Given the description of an element on the screen output the (x, y) to click on. 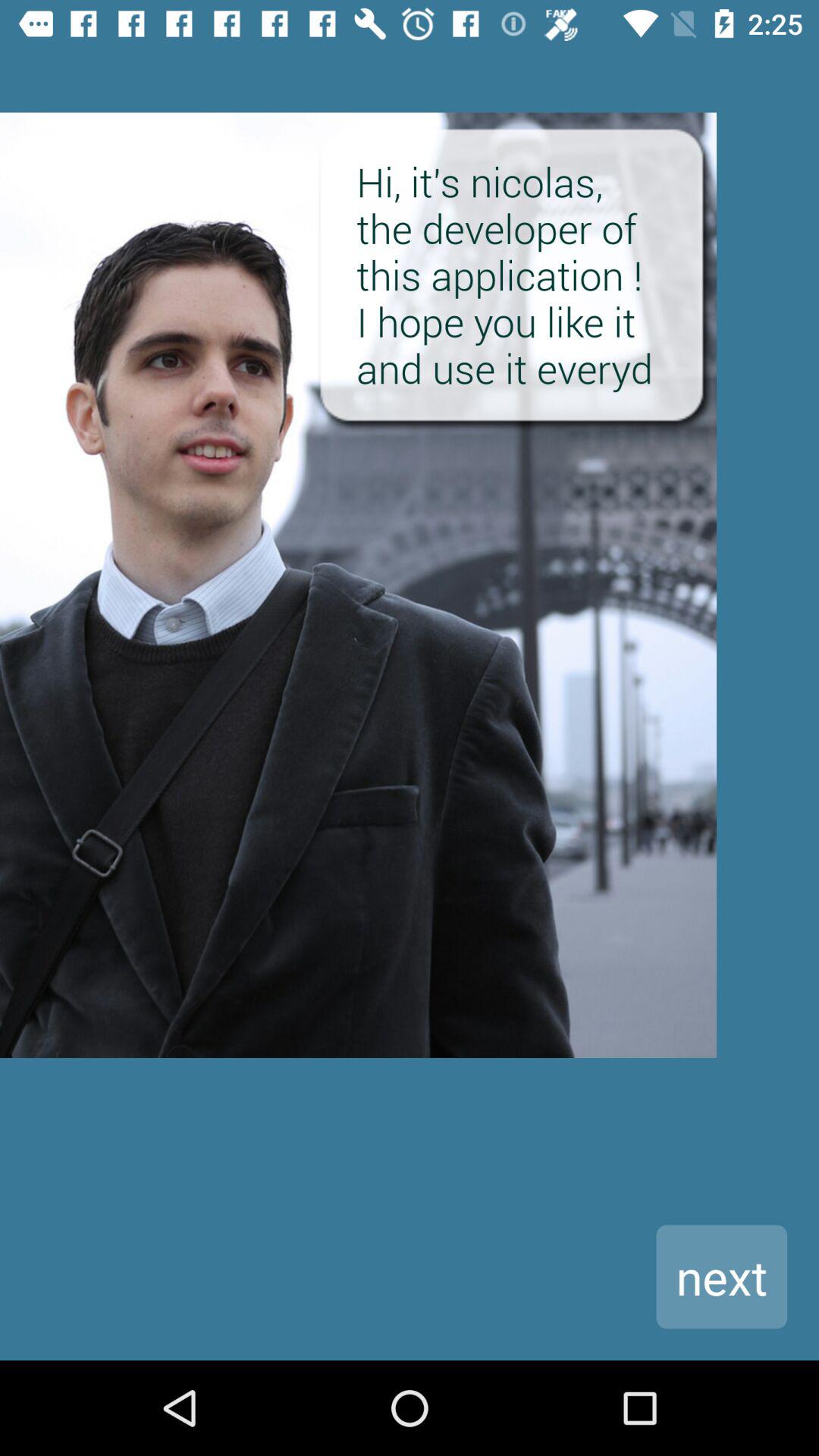
open icon at the bottom right corner (721, 1276)
